Given the description of an element on the screen output the (x, y) to click on. 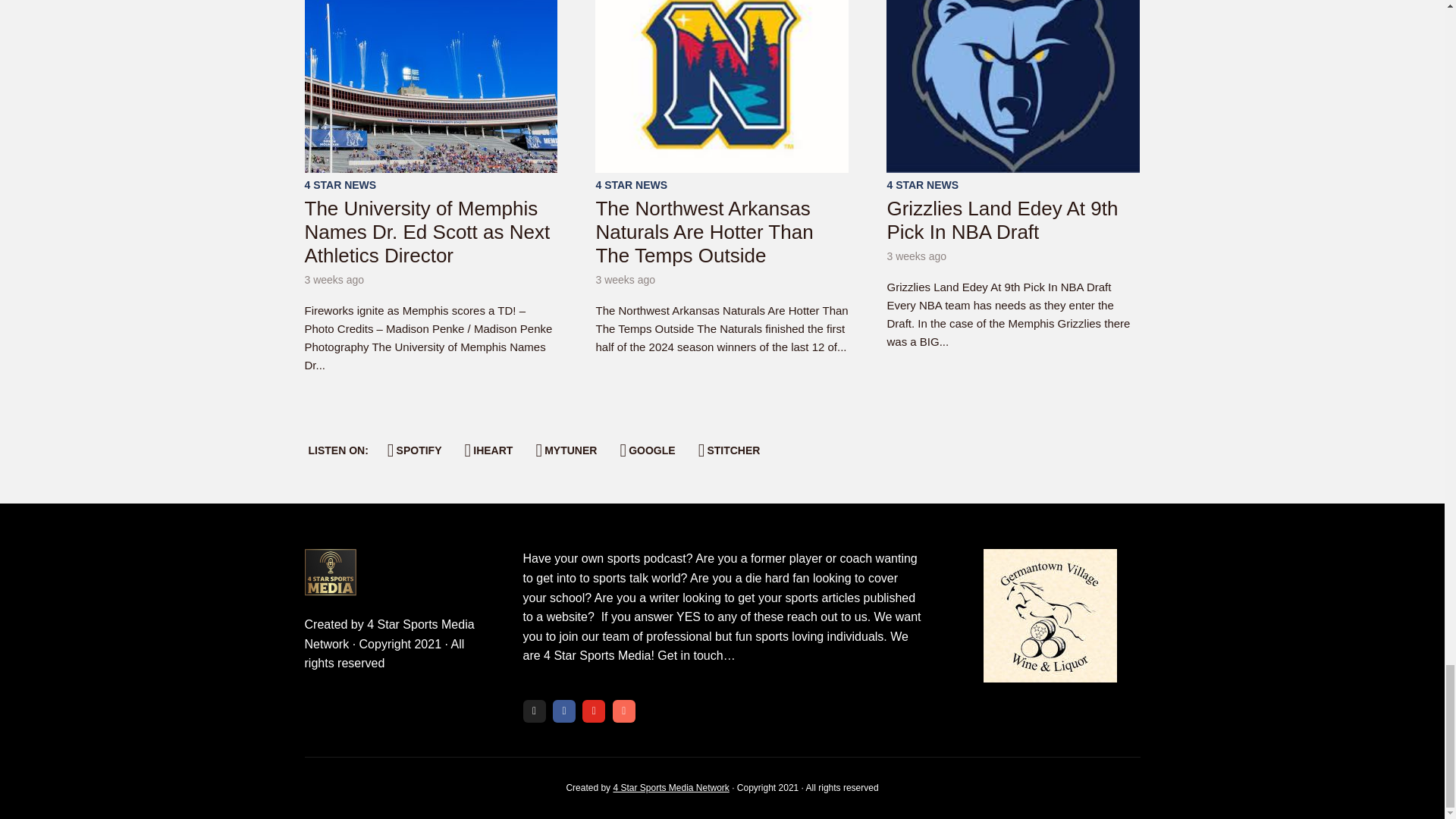
Patreon (623, 711)
YouTube (593, 711)
Facebook (564, 711)
